Given the description of an element on the screen output the (x, y) to click on. 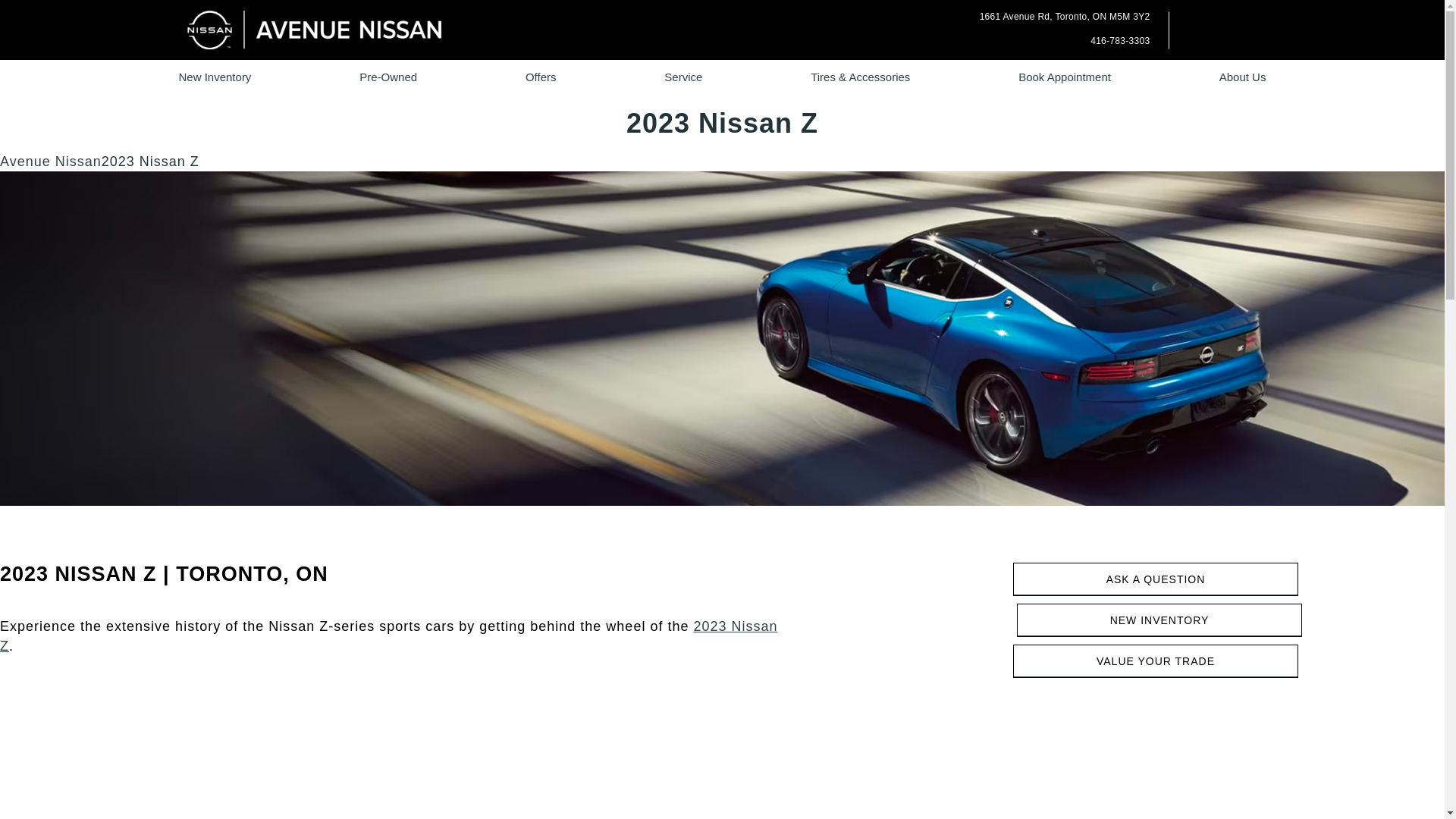
416-783-3303 (1111, 40)
New Inventory (215, 77)
Go to Avenue Nissan. (1064, 16)
Service (50, 160)
Offers (682, 77)
Pre-Owned (540, 77)
